Given the description of an element on the screen output the (x, y) to click on. 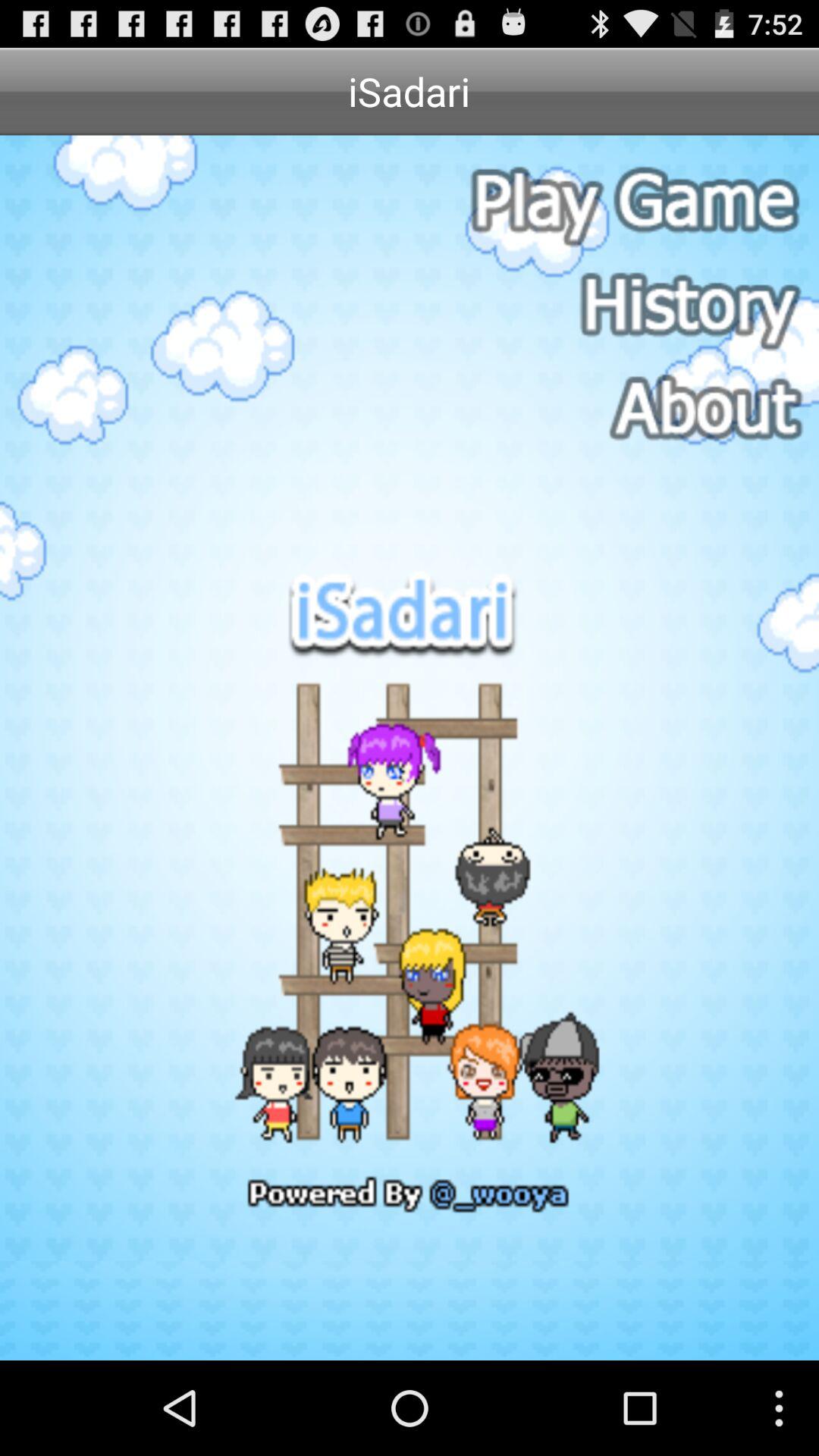
go to history button (631, 305)
